Given the description of an element on the screen output the (x, y) to click on. 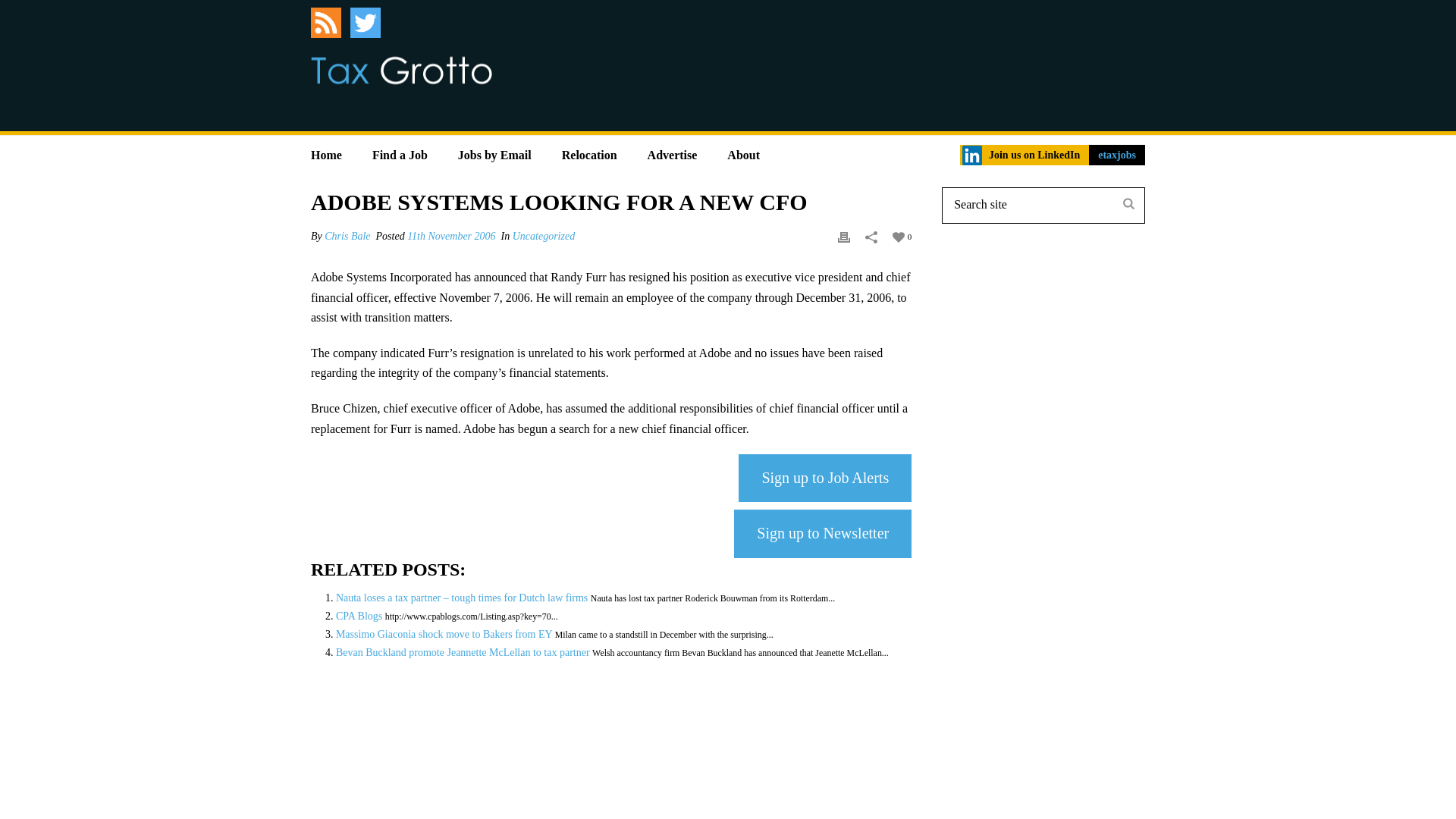
Posts by Chris Bale (346, 235)
Jobs by Email (494, 149)
etaxjobs (1116, 154)
Home (325, 149)
Jobs by Email (494, 149)
11th November 2006 (451, 235)
Sign up to Job Alerts (824, 478)
Home (325, 149)
CPA Blogs (358, 615)
CPA Blogs (358, 615)
